Given the description of an element on the screen output the (x, y) to click on. 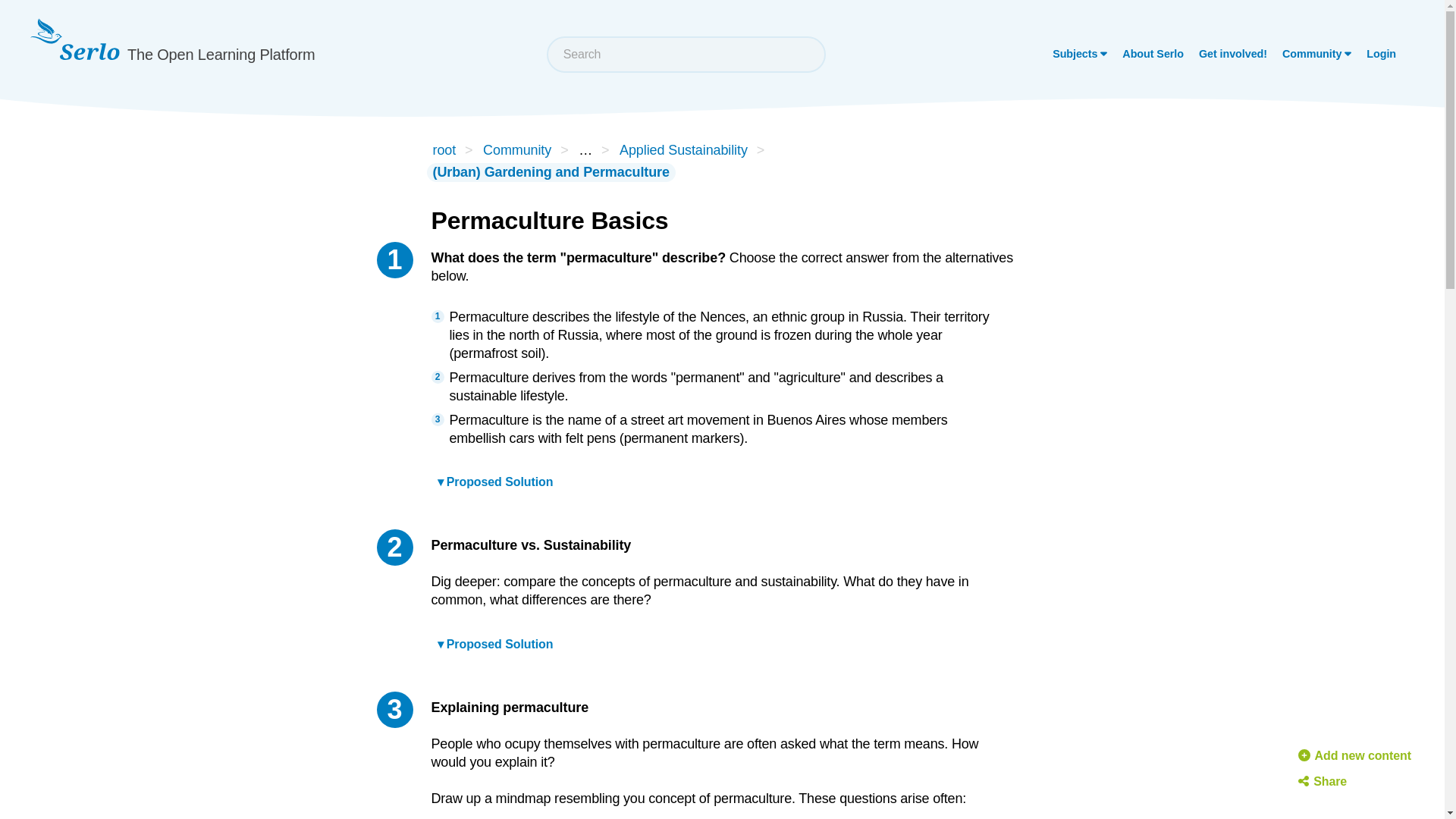
root (443, 149)
About Serlo (1152, 53)
Community  (1316, 53)
Applied Sustainability (683, 149)
Add new content (1354, 755)
Subjects  (1079, 53)
Login (1380, 53)
Community (517, 149)
Get involved! (1232, 53)
The Open Learning Platform (172, 49)
3 (393, 709)
Share (1322, 781)
1 (393, 259)
2 (393, 547)
